Given the description of an element on the screen output the (x, y) to click on. 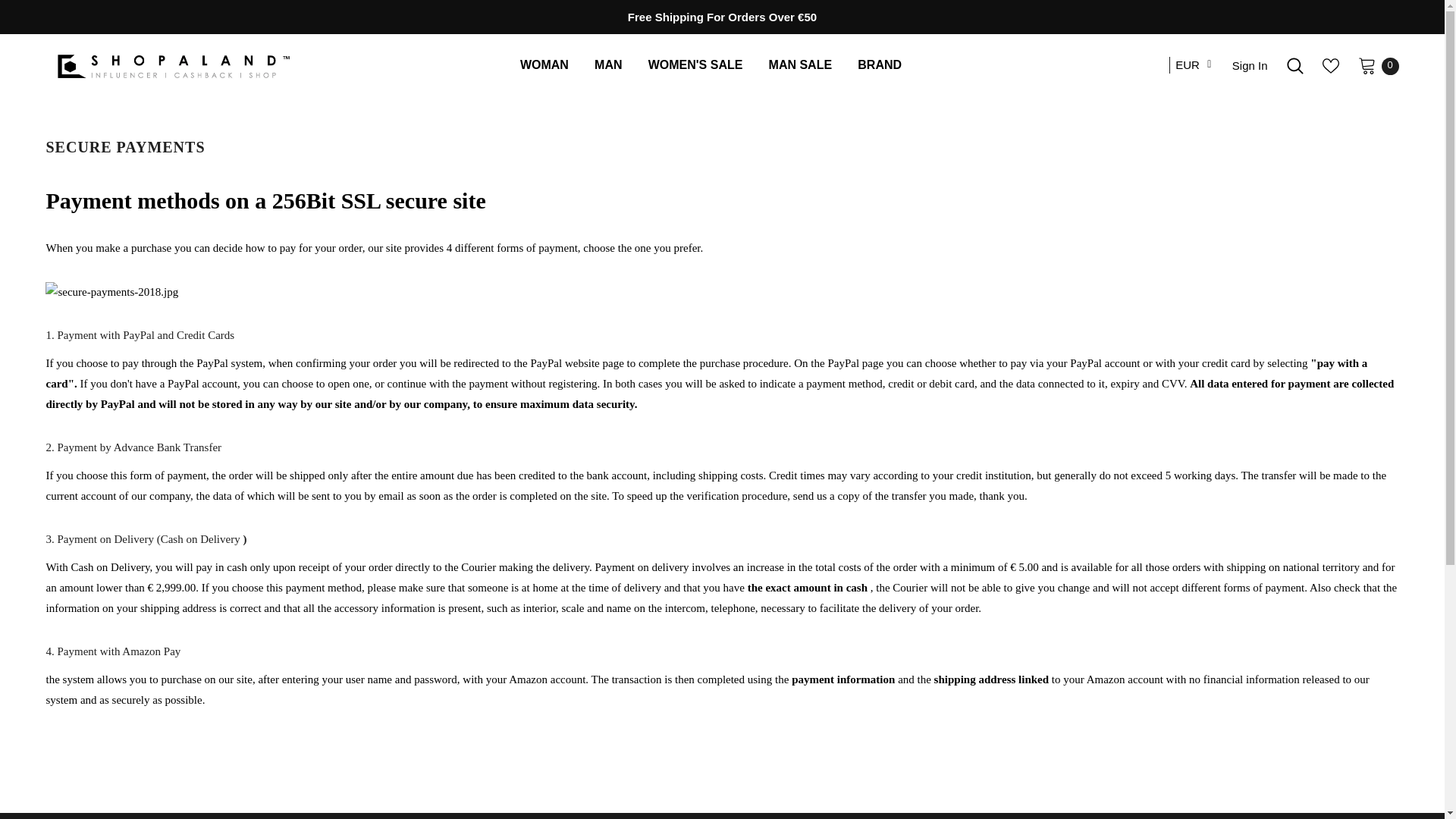
Cart Icon (1366, 65)
MAN SALE (800, 66)
WOMAN (544, 66)
Search Icon (1295, 65)
Logo (172, 65)
My Wish Lists (1330, 65)
WOMEN'S SALE (694, 66)
0 (1366, 65)
Sign In (1249, 65)
Home (60, 116)
